Given the description of an element on the screen output the (x, y) to click on. 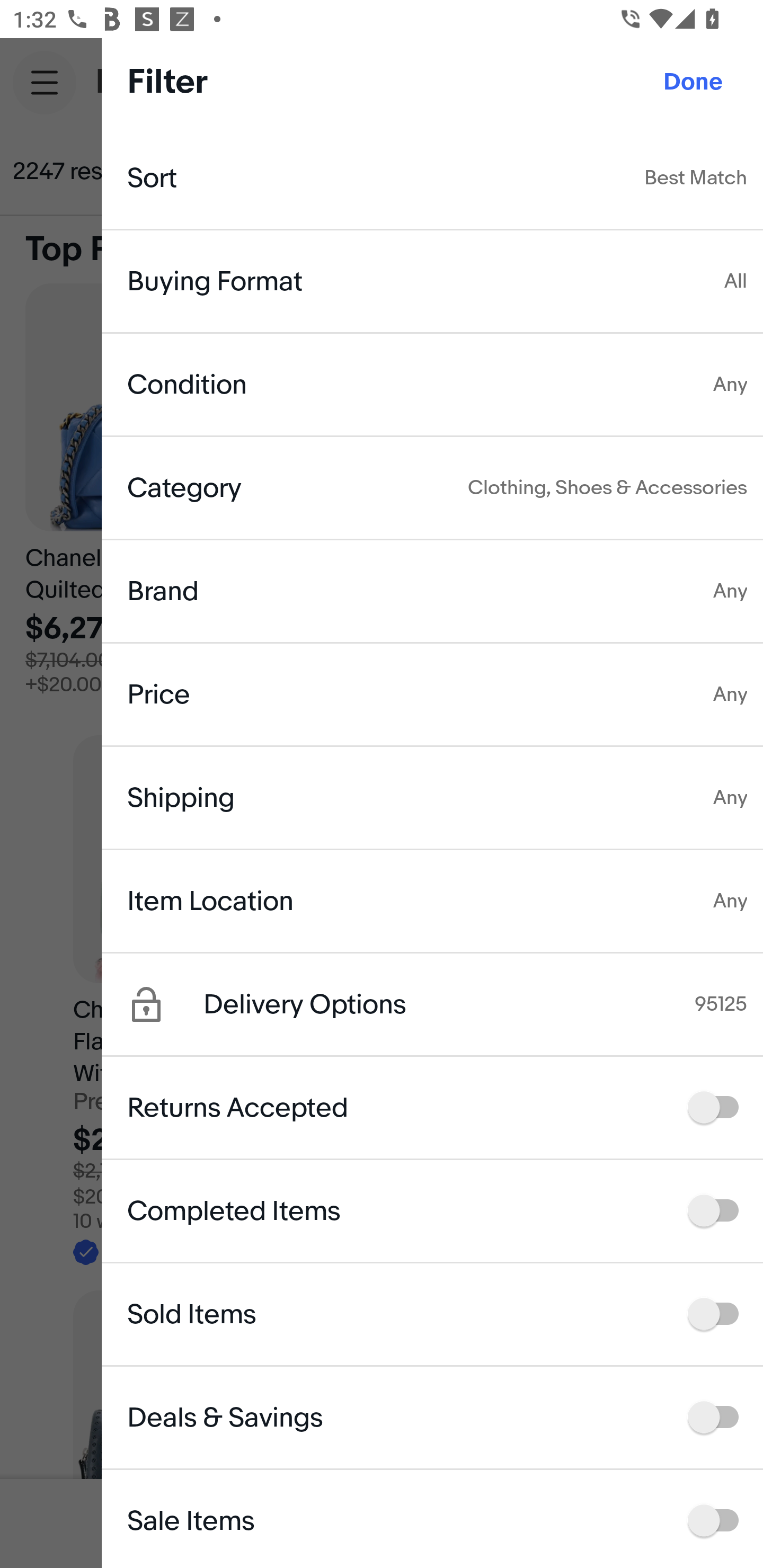
Done (693, 82)
Filter (686, 171)
Lock Delivery Options refinement (165, 1004)
